Given the description of an element on the screen output the (x, y) to click on. 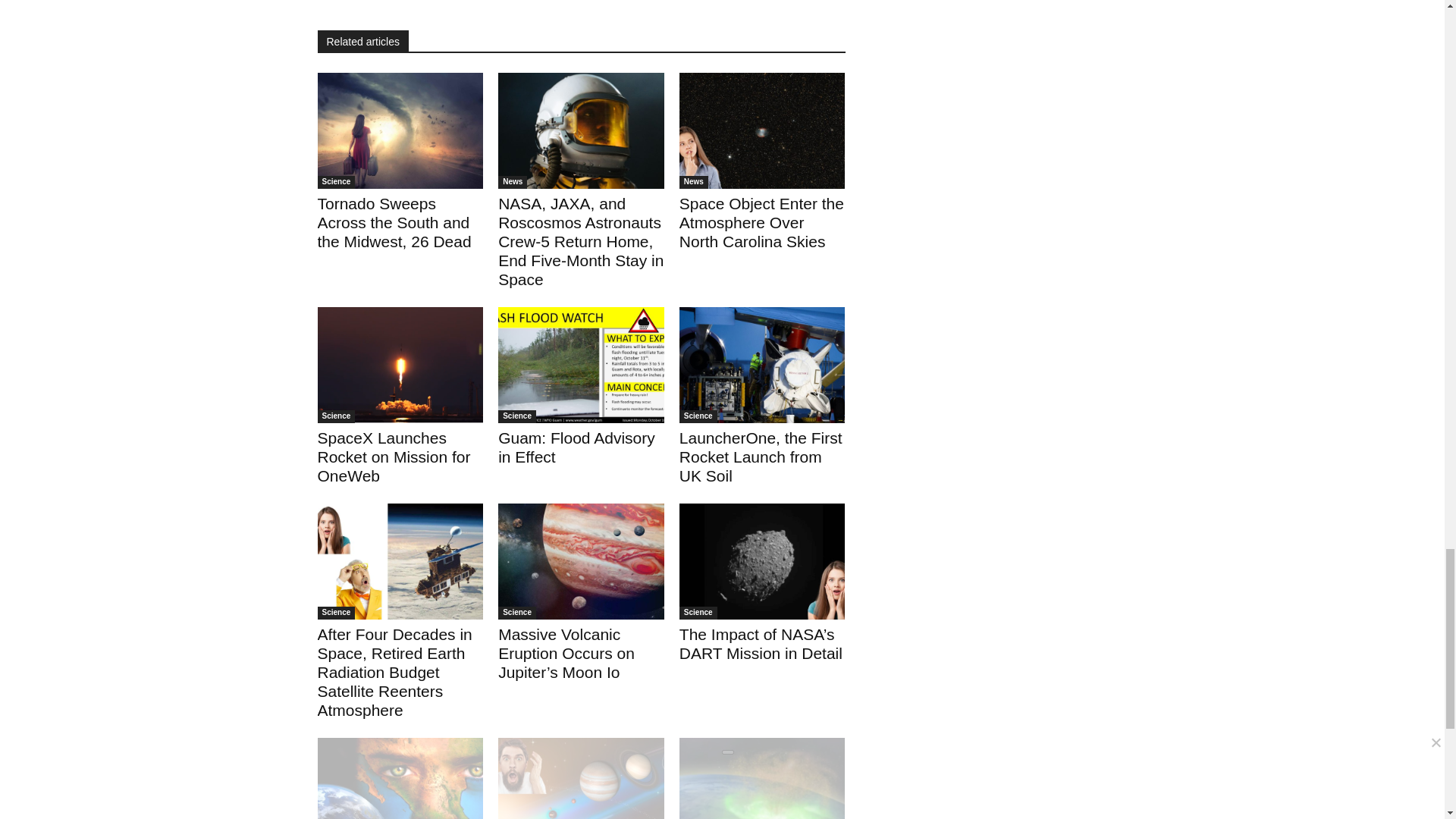
Guam: Flood Advisory in Effect (576, 447)
Space Object Enter the Atmosphere Over North Carolina Skies (762, 130)
Tornado Sweeps Across the South and the Midwest, 26 Dead (393, 222)
SpaceX Launches Rocket on Mission for OneWeb (393, 456)
SpaceX Launches Rocket on Mission for OneWeb (400, 365)
Space Object Enter the Atmosphere Over North Carolina Skies (761, 222)
Tornado Sweeps Across the South and the Midwest, 26 Dead (400, 130)
Guam: Flood Advisory in Effect (580, 365)
